Given the description of an element on the screen output the (x, y) to click on. 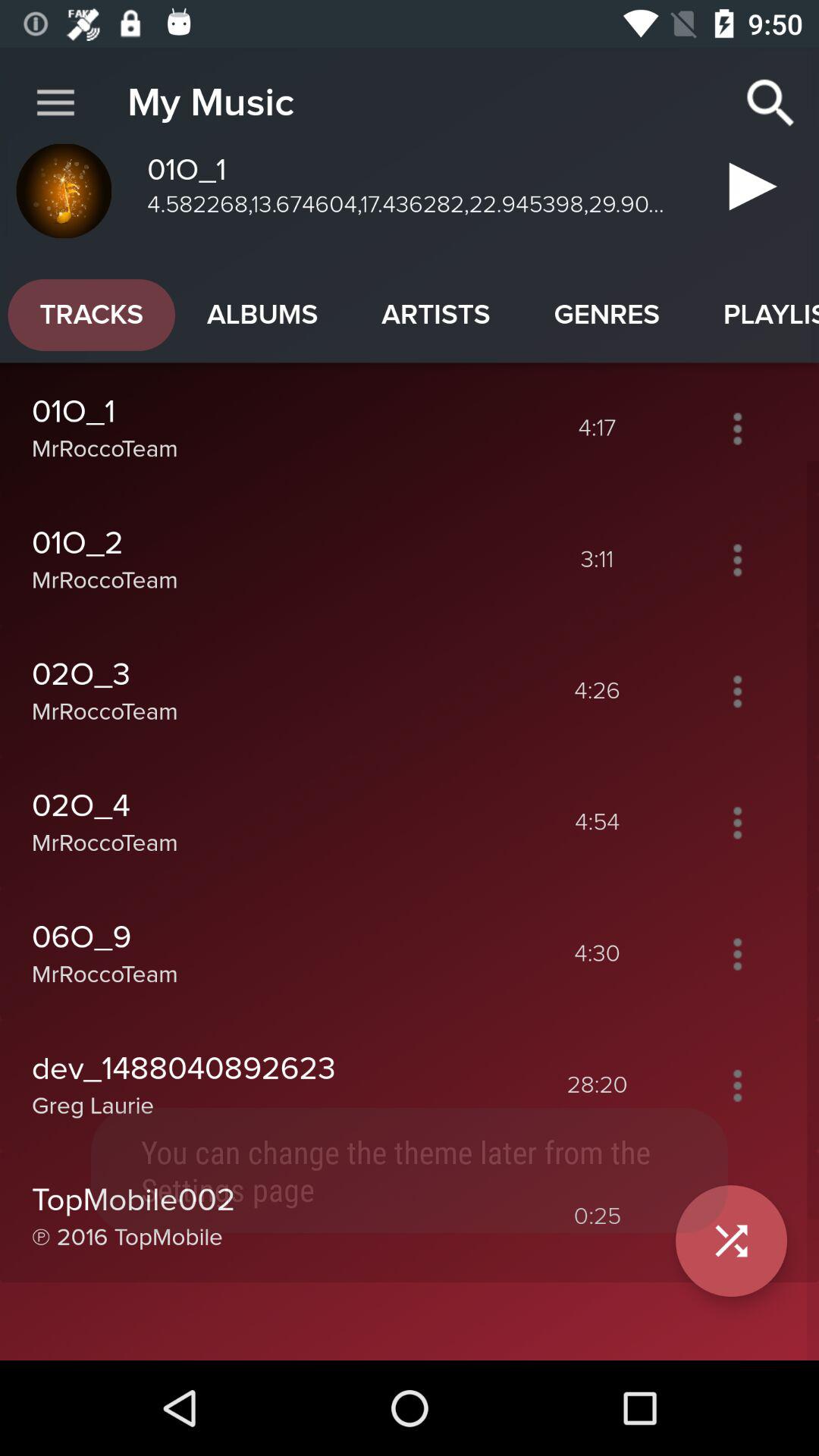
more (737, 691)
